Given the description of an element on the screen output the (x, y) to click on. 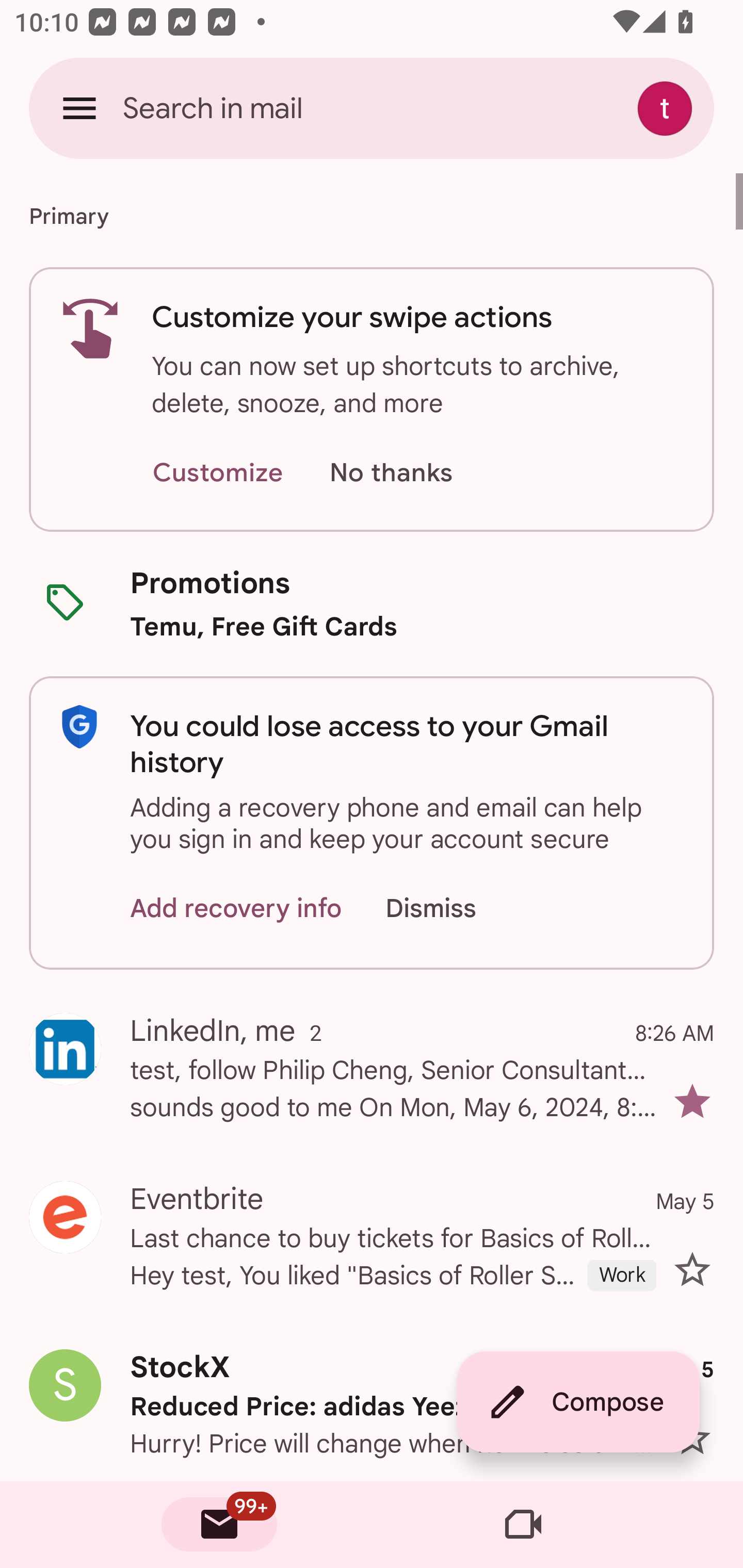
Open navigation drawer (79, 108)
Customize (217, 473)
No thanks (390, 473)
Promotions Temu, Free Gift Cards (371, 603)
Add recovery info (235, 908)
Dismiss (449, 908)
Compose (577, 1401)
Meet (523, 1524)
